Given the description of an element on the screen output the (x, y) to click on. 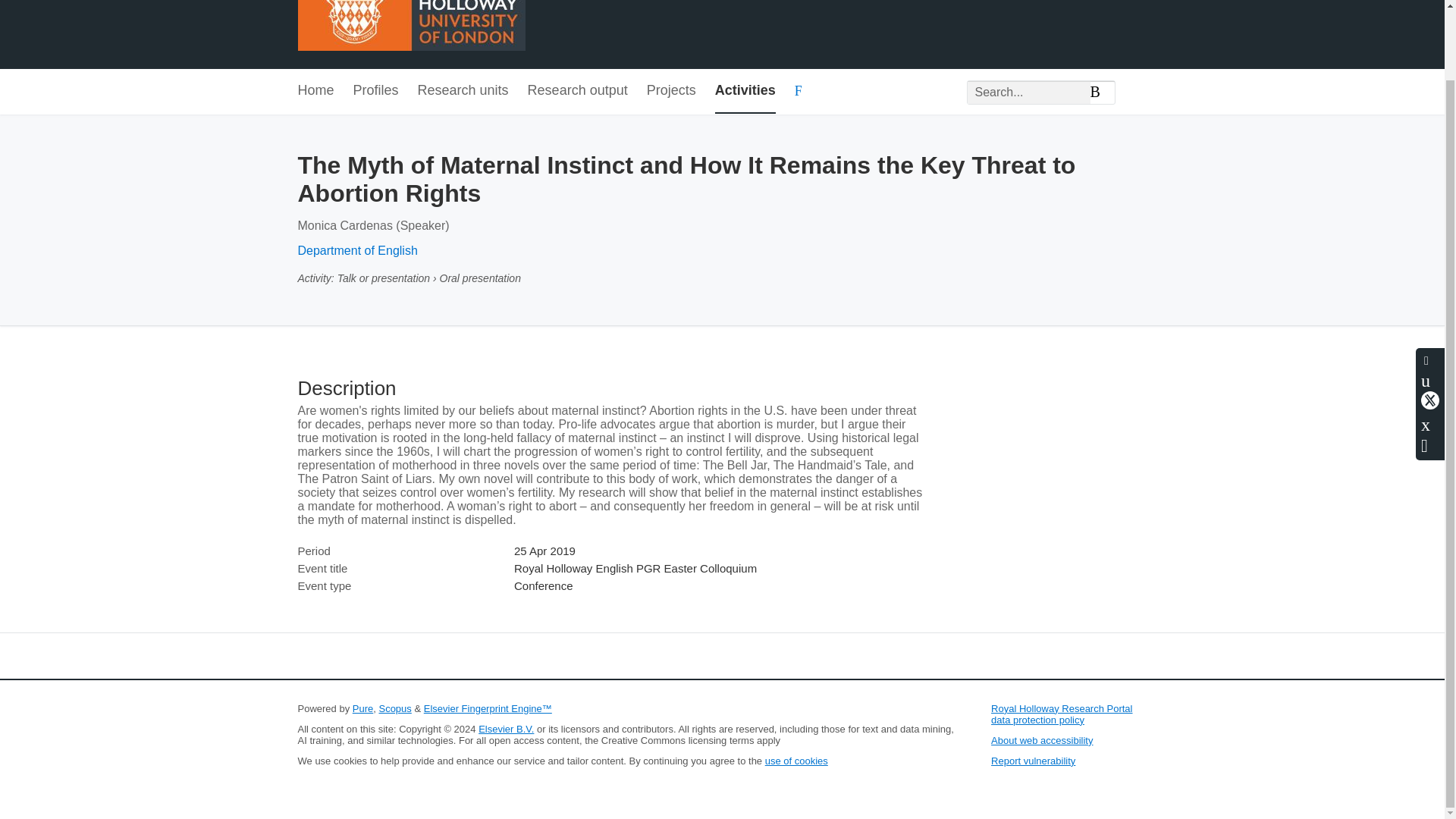
Department of English (356, 250)
Activities (745, 90)
Scopus (394, 708)
Projects (670, 90)
About web accessibility (1042, 740)
Elsevier B.V. (506, 728)
X (1430, 321)
Research units (462, 90)
Pure (362, 708)
use of cookies (796, 760)
Report vulnerability (1033, 760)
Profiles (375, 90)
Royal Holloway Research Portal Home (410, 27)
Royal Holloway Research Portal data protection policy (1061, 713)
Research output (577, 90)
